Given the description of an element on the screen output the (x, y) to click on. 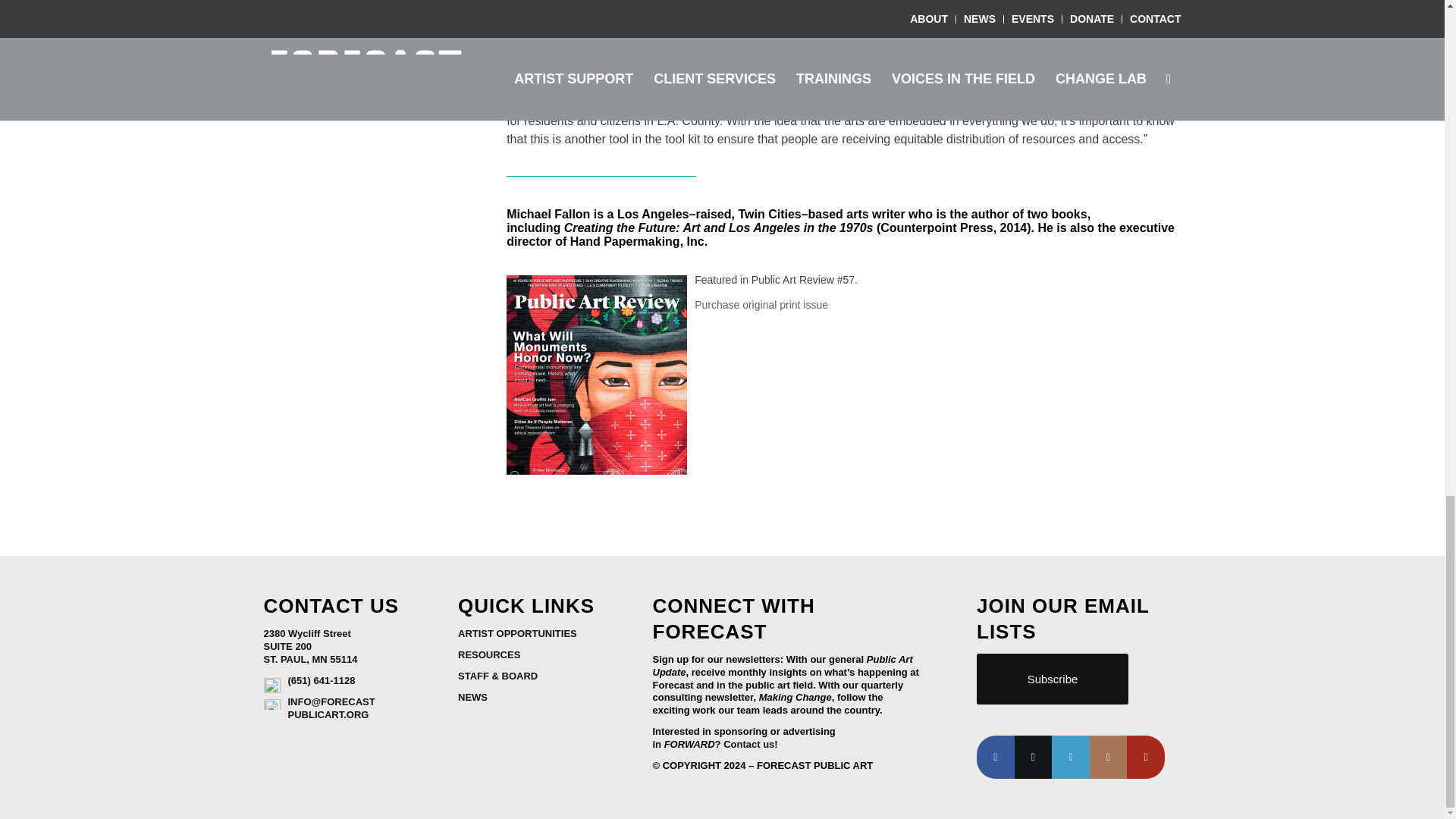
ARTIST OPPORTUNITIES (517, 633)
Purchase original print issue (761, 304)
